Given the description of an element on the screen output the (x, y) to click on. 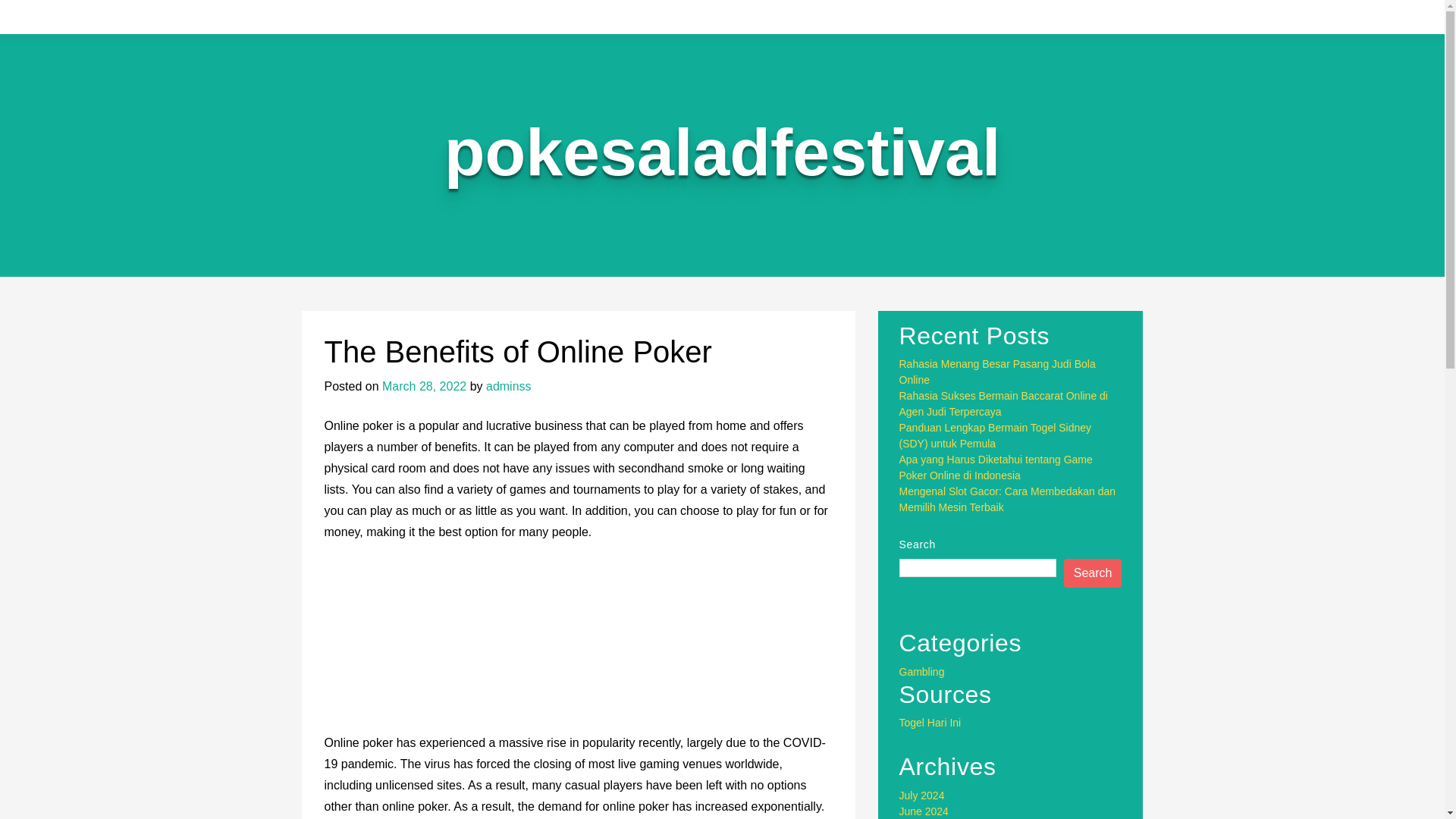
Gambling (921, 671)
March 28, 2022 (423, 386)
June 2024 (924, 811)
Togel Hari Ini (929, 722)
adminss (508, 386)
Rahasia Menang Besar Pasang Judi Bola Online (997, 371)
Search (1093, 573)
July 2024 (921, 795)
